Given the description of an element on the screen output the (x, y) to click on. 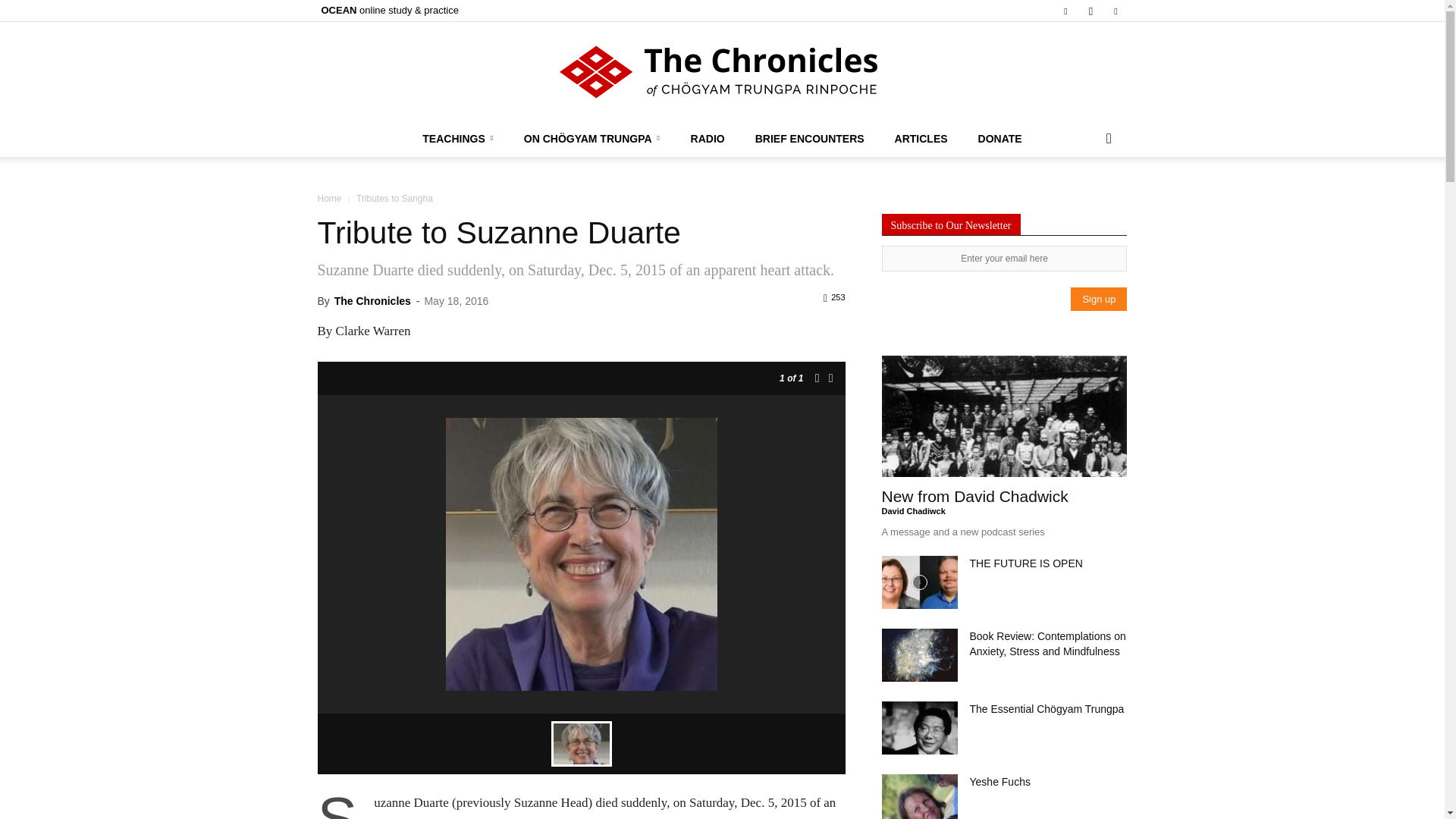
Sign up (1098, 299)
Instagram (1090, 10)
TEACHINGS (457, 138)
Twitter (1114, 10)
Facebook (1065, 10)
